Given the description of an element on the screen output the (x, y) to click on. 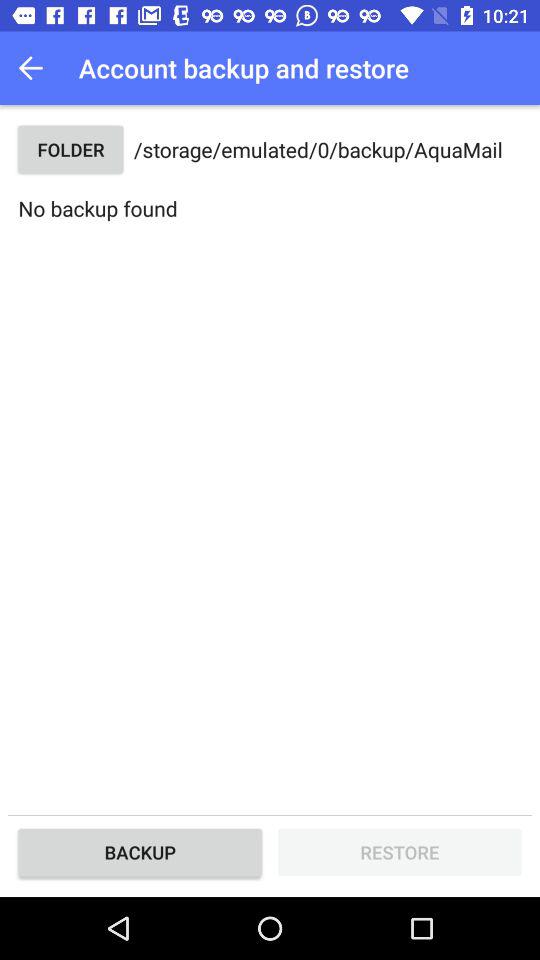
flip until folder icon (70, 149)
